Given the description of an element on the screen output the (x, y) to click on. 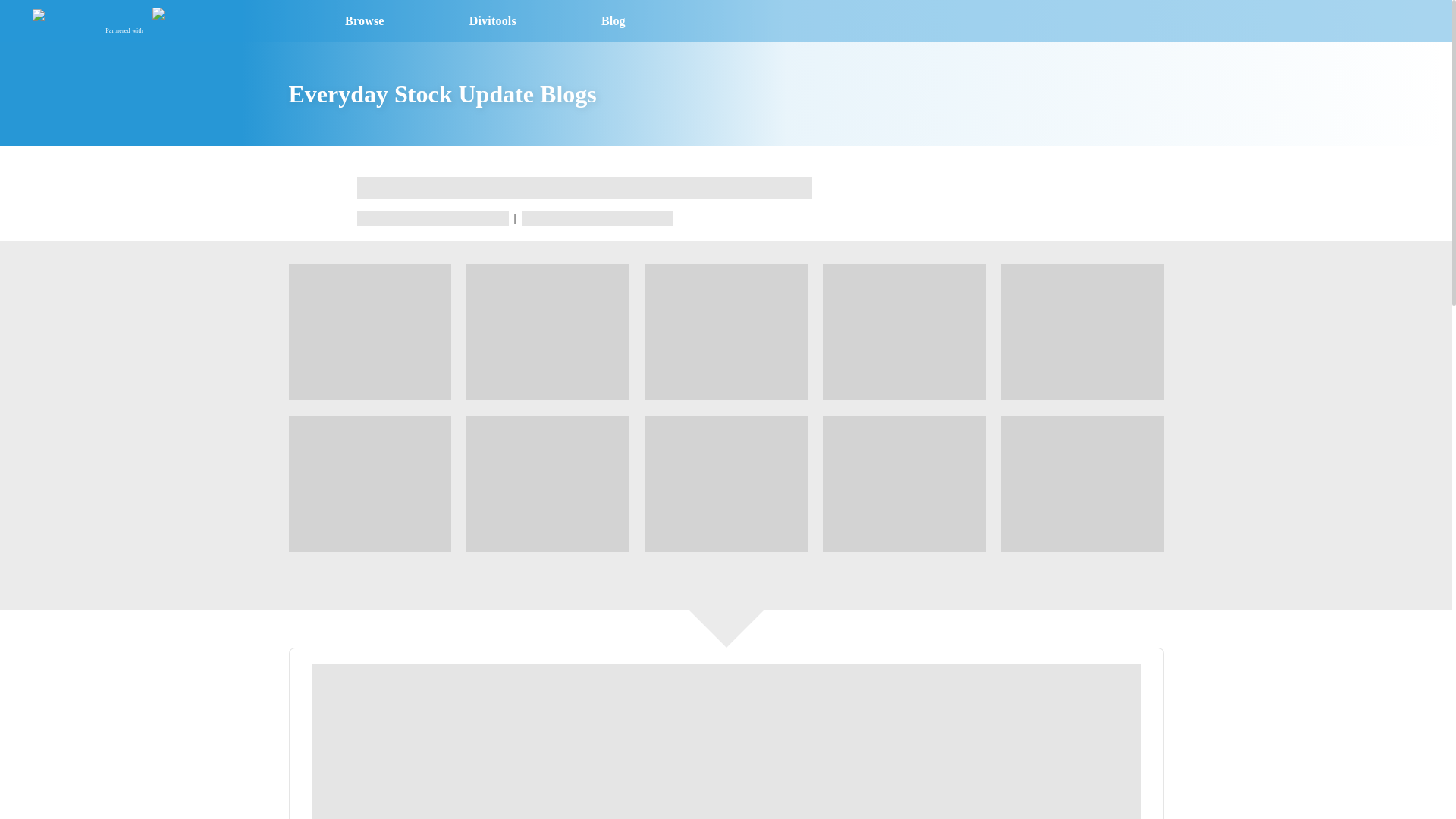
Browse (364, 19)
Divitools (492, 19)
Blog (613, 19)
Partnered with (90, 20)
